Given the description of an element on the screen output the (x, y) to click on. 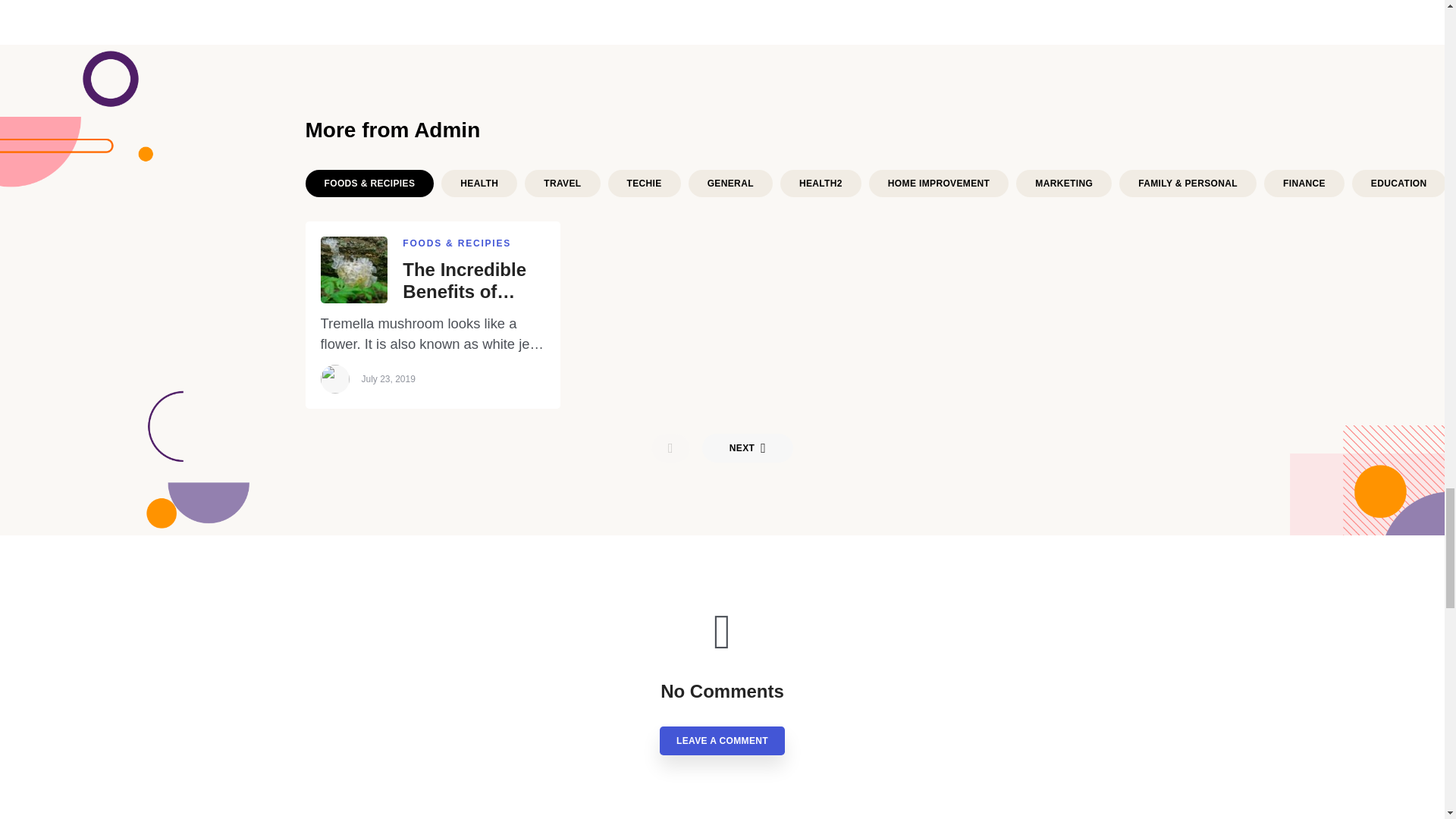
GENERAL (730, 183)
July 23, 2019 (387, 378)
The Incredible Benefits of Tremella Mushroom (473, 281)
MARKETING (1064, 183)
HOME IMPROVEMENT (939, 183)
HEALTH2 (820, 183)
FINANCE (1303, 183)
TECHIE (644, 183)
HEALTH (478, 183)
TRAVEL (561, 183)
